Given the description of an element on the screen output the (x, y) to click on. 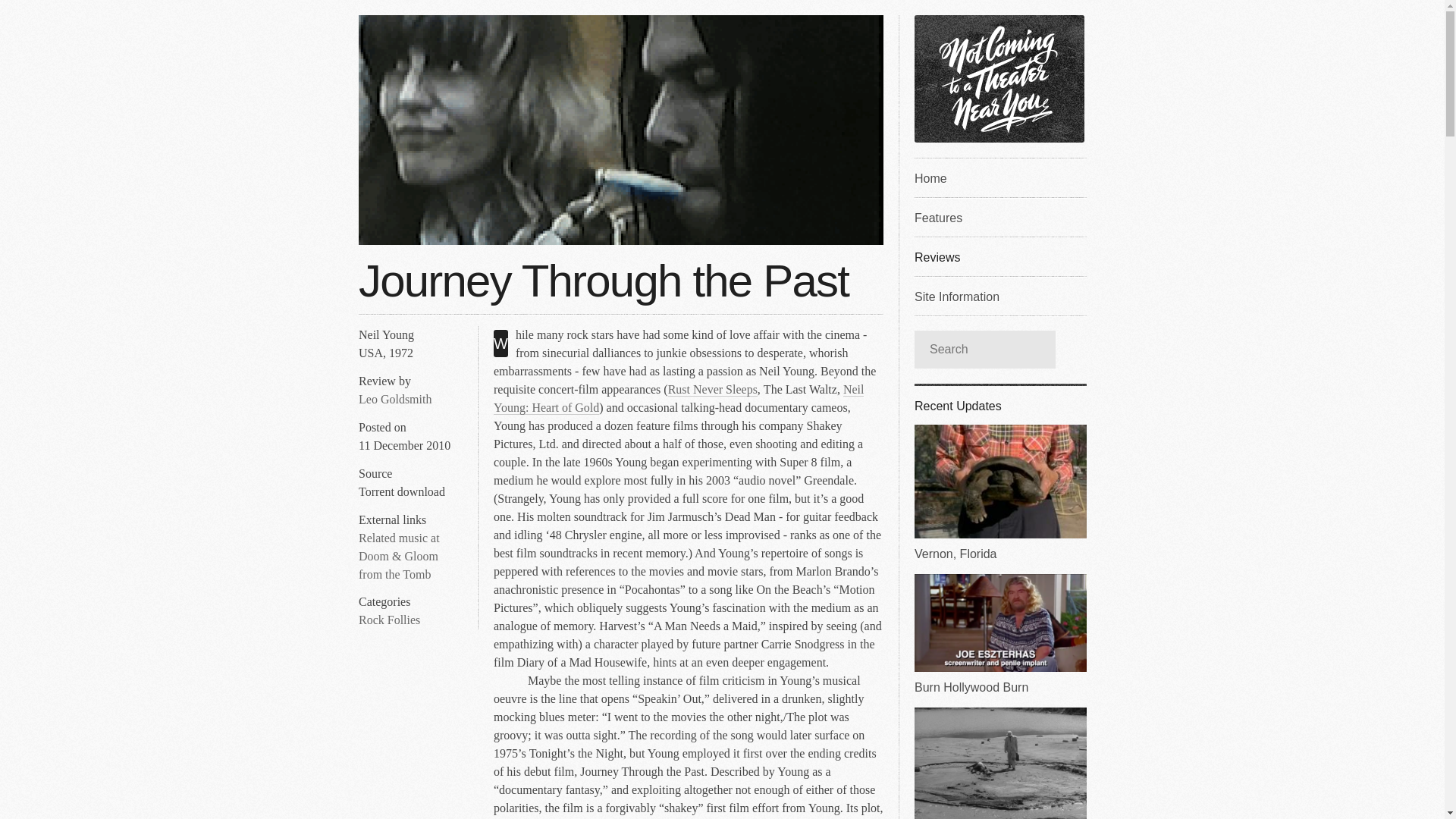
Site Information (1000, 295)
Features (1000, 216)
Reviews (1000, 256)
Site Index (1000, 177)
Leo Goldsmith (394, 399)
Rock Follies (389, 620)
Vernon, Florida (1000, 493)
Reviews (1000, 256)
Features (1000, 216)
Neil Young: Heart of Gold (678, 398)
